Given the description of an element on the screen output the (x, y) to click on. 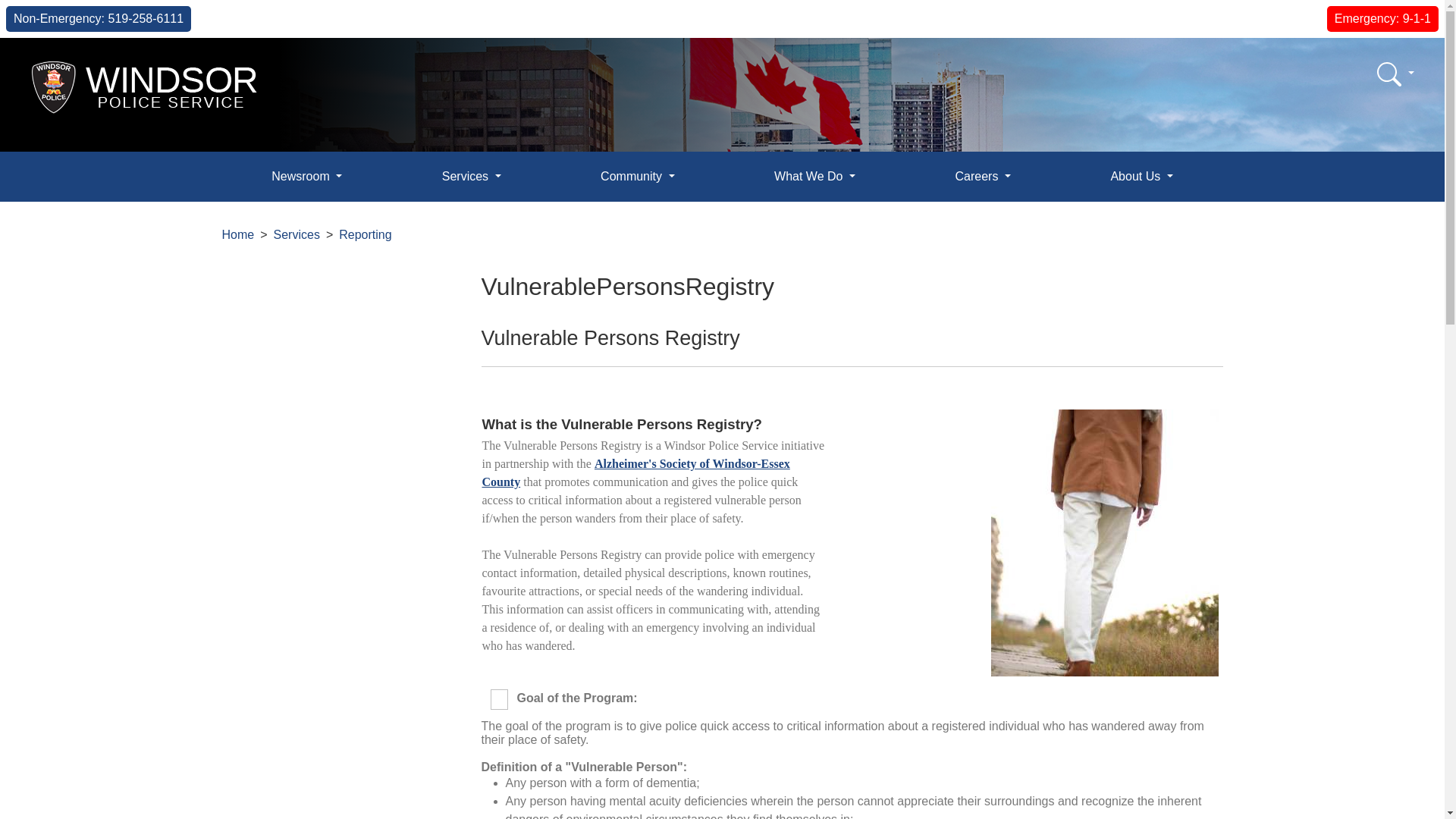
Careers (983, 176)
Community (636, 176)
About Us (1142, 176)
Newsroom (306, 176)
Windsor Police Service (144, 85)
What We Do (813, 176)
Services (470, 176)
Newsroom (306, 176)
Services (470, 176)
